Given the description of an element on the screen output the (x, y) to click on. 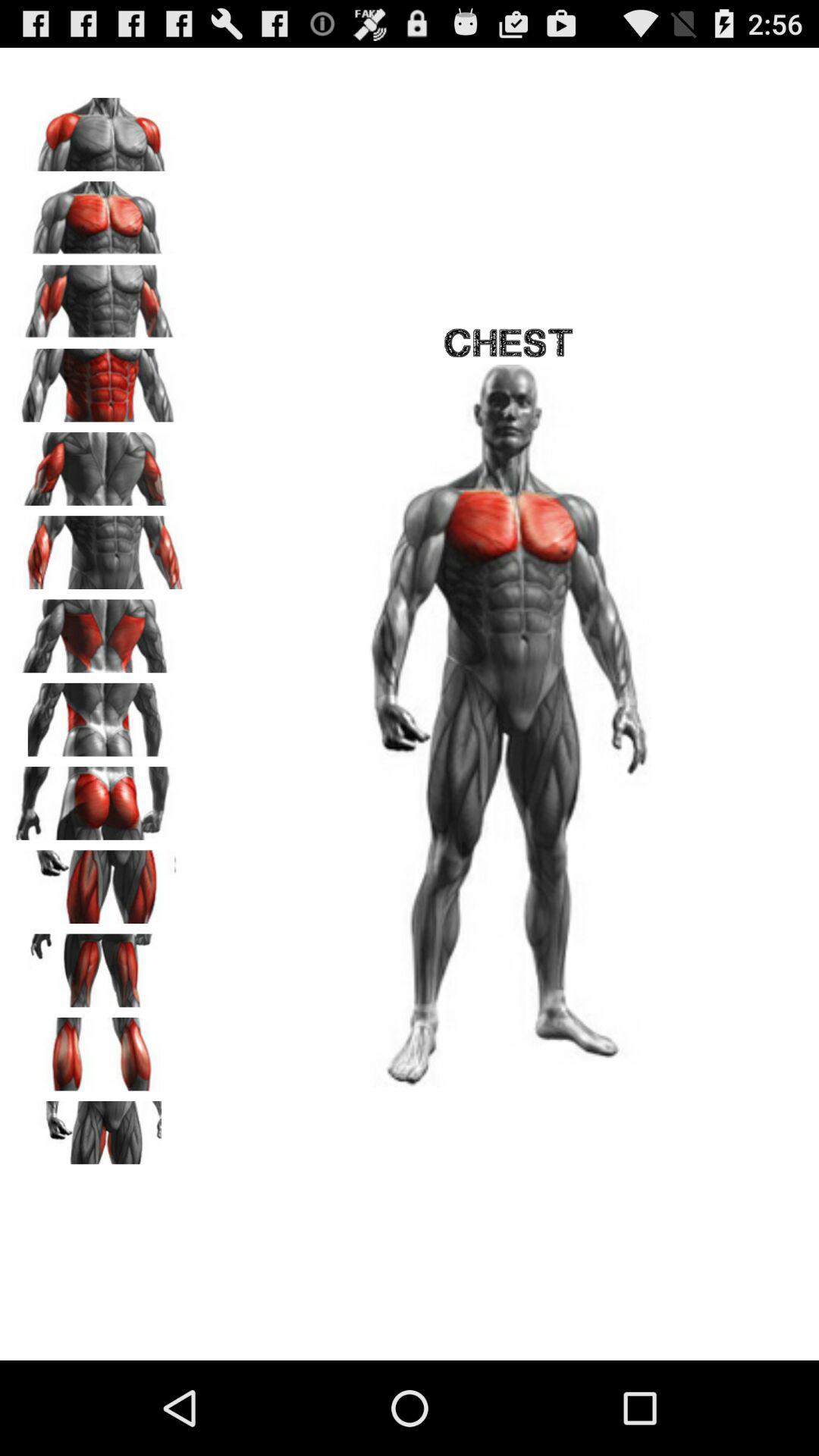
select part to highlight (99, 129)
